Given the description of an element on the screen output the (x, y) to click on. 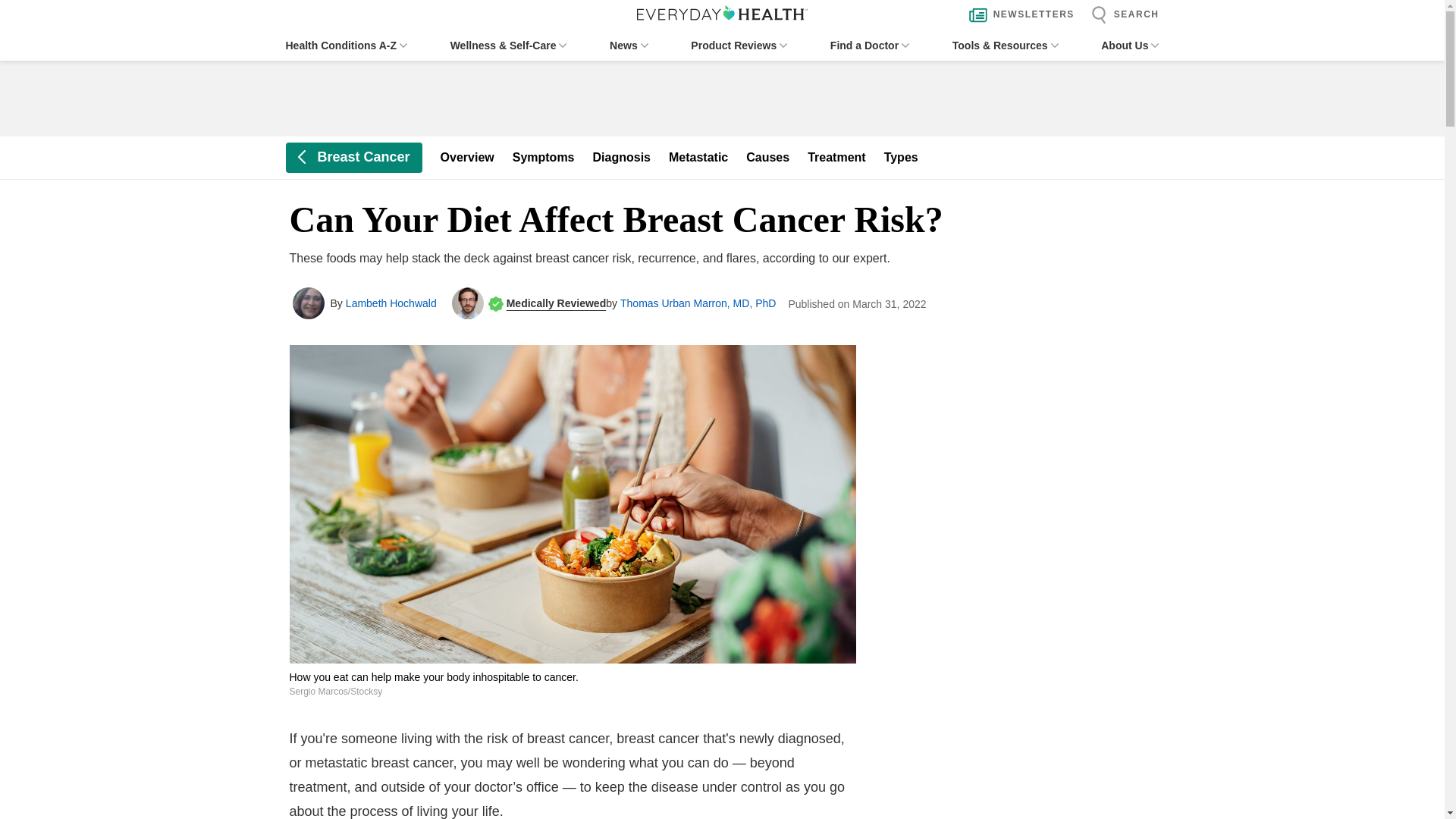
Product Reviews (738, 45)
About Us (1129, 45)
SEARCH (1120, 15)
Health Conditions A-Z (345, 45)
Find a Doctor (868, 45)
News (628, 45)
NEWSLETTERS (1018, 15)
